Given the description of an element on the screen output the (x, y) to click on. 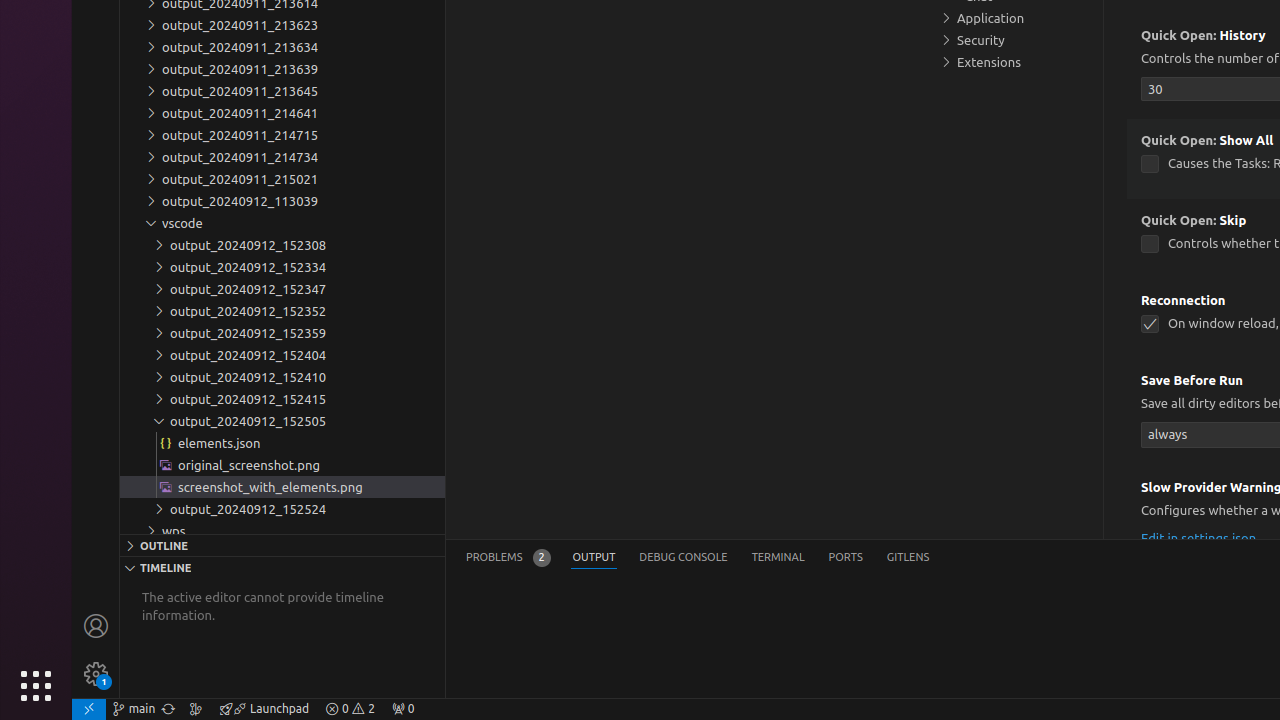
Show the GitLens Commit Graph Element type: push-button (196, 709)
output_20240912_152334 Element type: tree-item (282, 267)
Application, group Element type: tree-item (1015, 18)
output_20240912_152347 Element type: tree-item (282, 289)
Accounts Element type: push-button (96, 626)
